Given the description of an element on the screen output the (x, y) to click on. 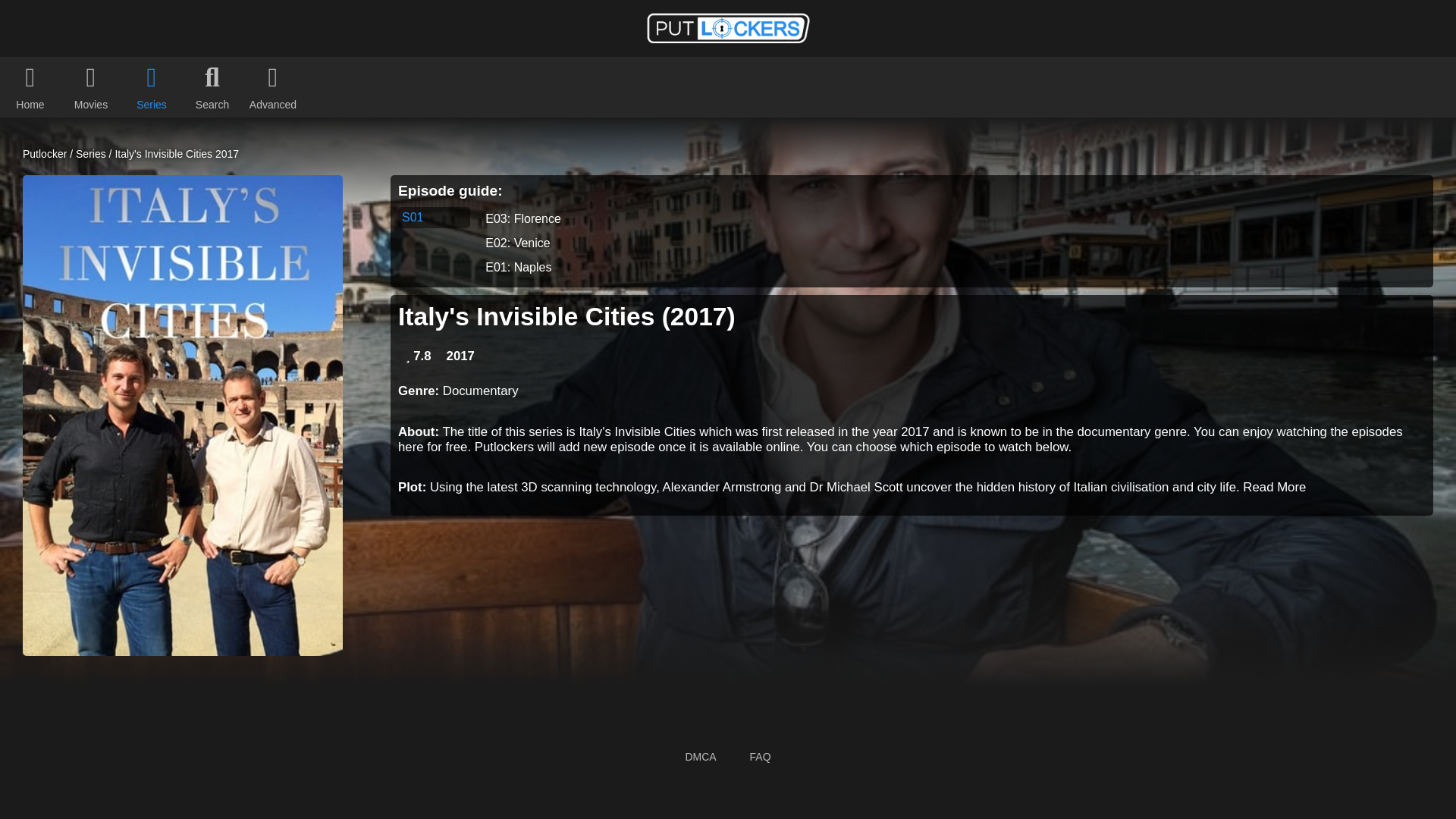
Series (90, 153)
Read More (1274, 486)
Italy's Invisible Cities 2017 (176, 153)
Rating (418, 355)
E01: Naples (949, 267)
E03: Florence (949, 218)
Release date (460, 355)
Putlocker (44, 153)
Series (90, 153)
Putlocker (44, 153)
E02: Venice (949, 242)
Italy's Invisible Cities 2017 (176, 153)
